Given the description of an element on the screen output the (x, y) to click on. 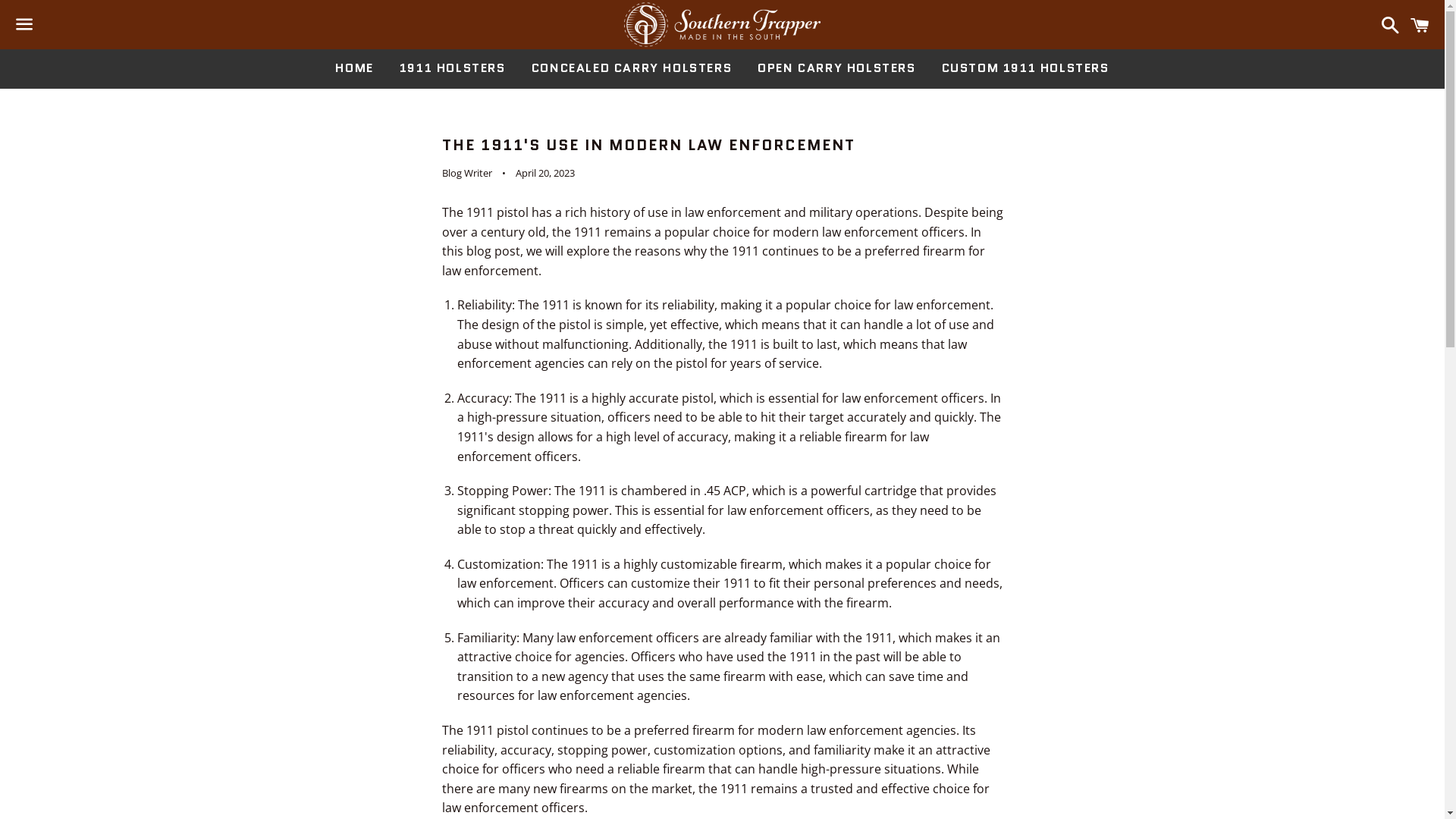
Search Element type: text (1386, 24)
Menu Element type: text (24, 24)
1911 HOLSTERS Element type: text (452, 68)
Cart Element type: text (1419, 24)
HOME Element type: text (353, 68)
CUSTOM 1911 HOLSTERS Element type: text (1025, 68)
OPEN CARRY HOLSTERS Element type: text (836, 68)
CONCEALED CARRY HOLSTERS Element type: text (631, 68)
